Given the description of an element on the screen output the (x, y) to click on. 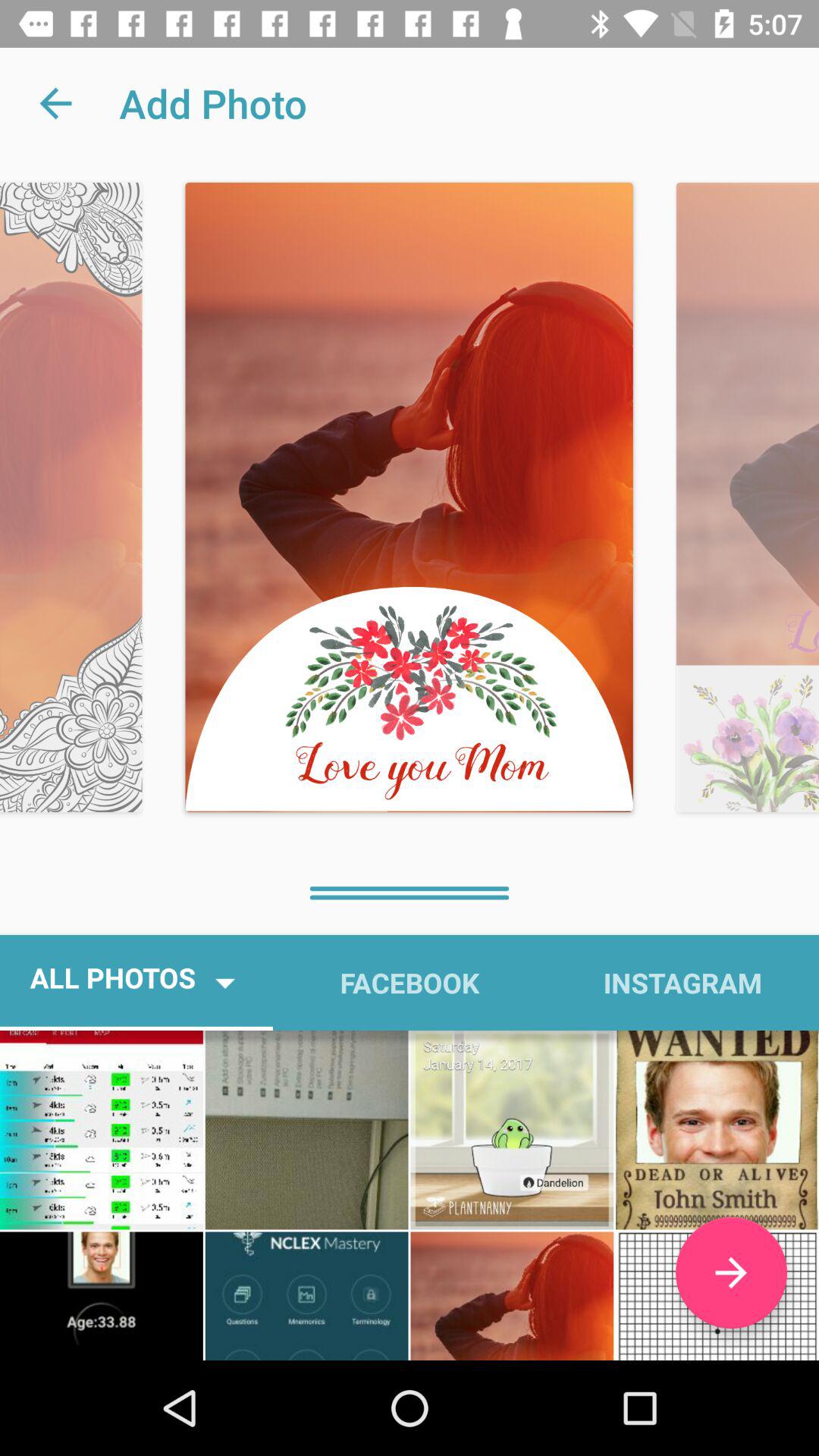
launch item below the instagram icon (731, 1272)
